Given the description of an element on the screen output the (x, y) to click on. 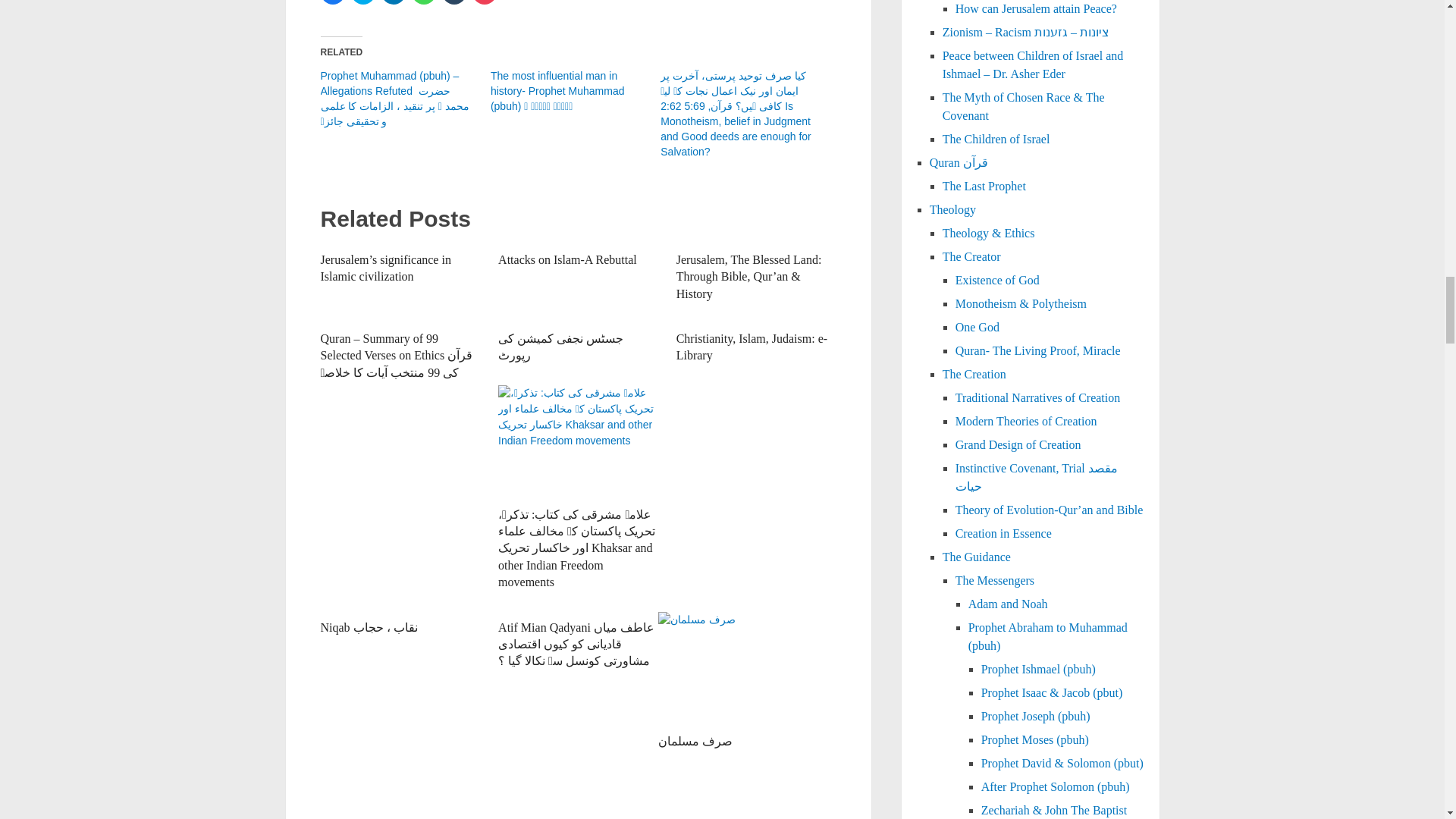
Click to share on Facebook (331, 2)
Attacks on Islam-A Rebuttal (567, 259)
Click to share on LinkedIn (392, 2)
Click to share on WhatsApp (422, 2)
Click to share on Pocket (483, 2)
Click to share on Twitter (362, 2)
Click to share on Tumblr (453, 2)
